Given the description of an element on the screen output the (x, y) to click on. 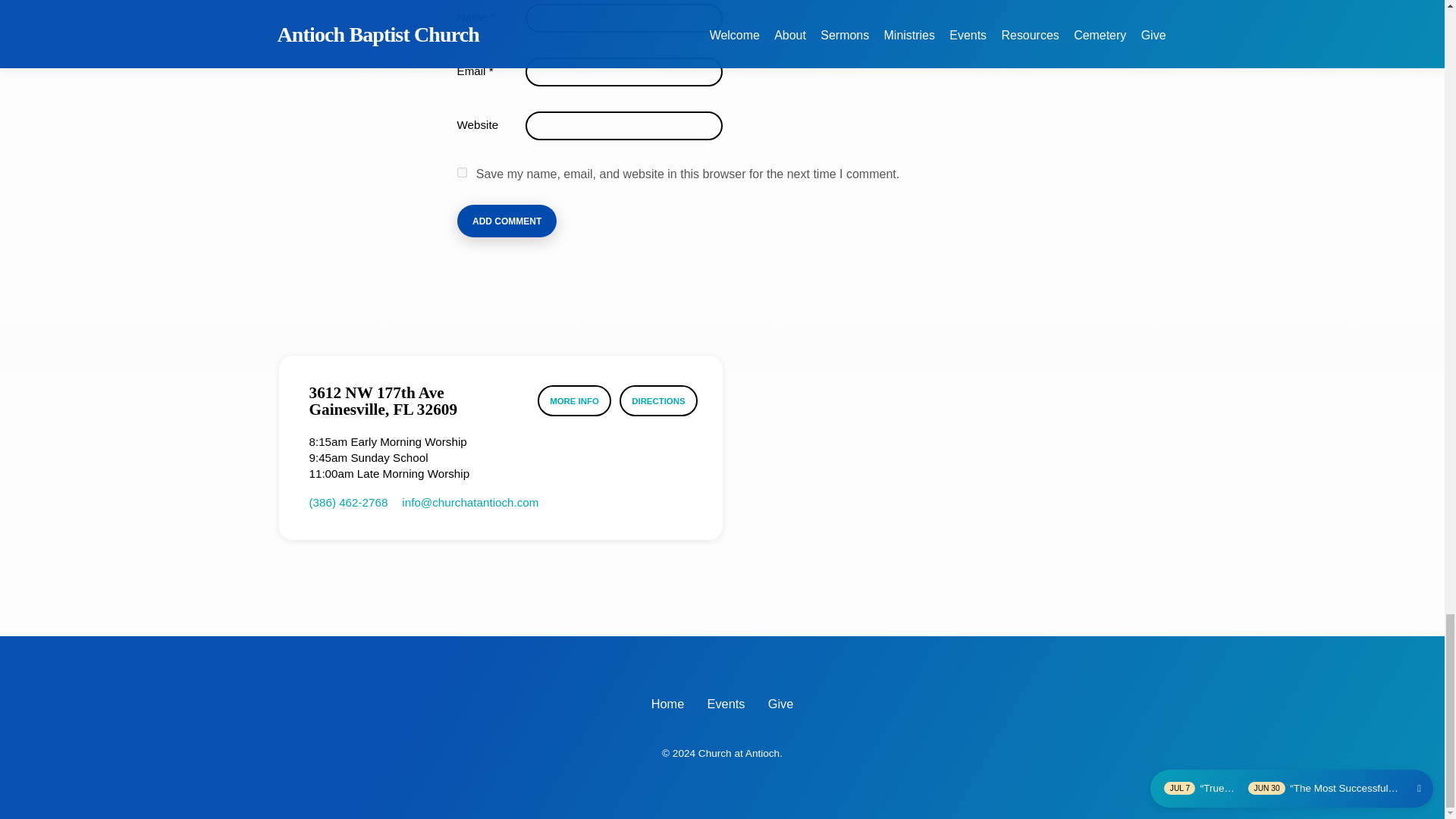
yes (461, 172)
Home (667, 703)
MORE INFO (574, 400)
DIRECTIONS (658, 400)
Add Comment (506, 220)
Give (780, 703)
Add Comment (506, 220)
Events (726, 703)
